Given the description of an element on the screen output the (x, y) to click on. 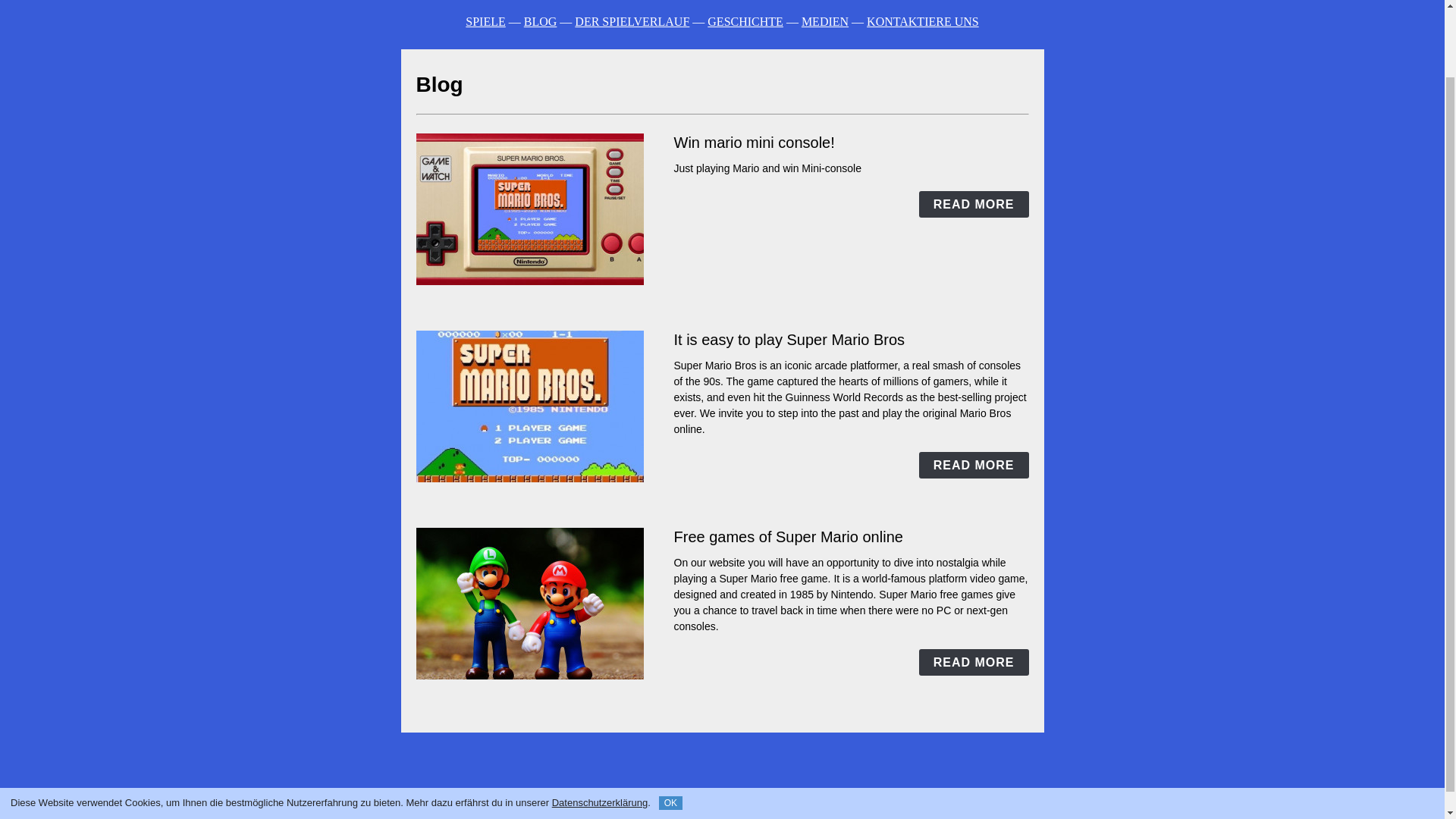
KONTAKTIERE UNS (755, 812)
DER SPIELVERLAUF (537, 812)
MEDIEN (825, 21)
GESCHICHTE (622, 812)
DER SPIELVERLAUF (631, 21)
It is easy to play Super Mario Bros (788, 339)
DATENSCHUTZBESTIMMUNGEN (880, 812)
Free games of Super Mario online (787, 536)
Win mario mini console! (753, 142)
MEDIEN (681, 812)
